Given the description of an element on the screen output the (x, y) to click on. 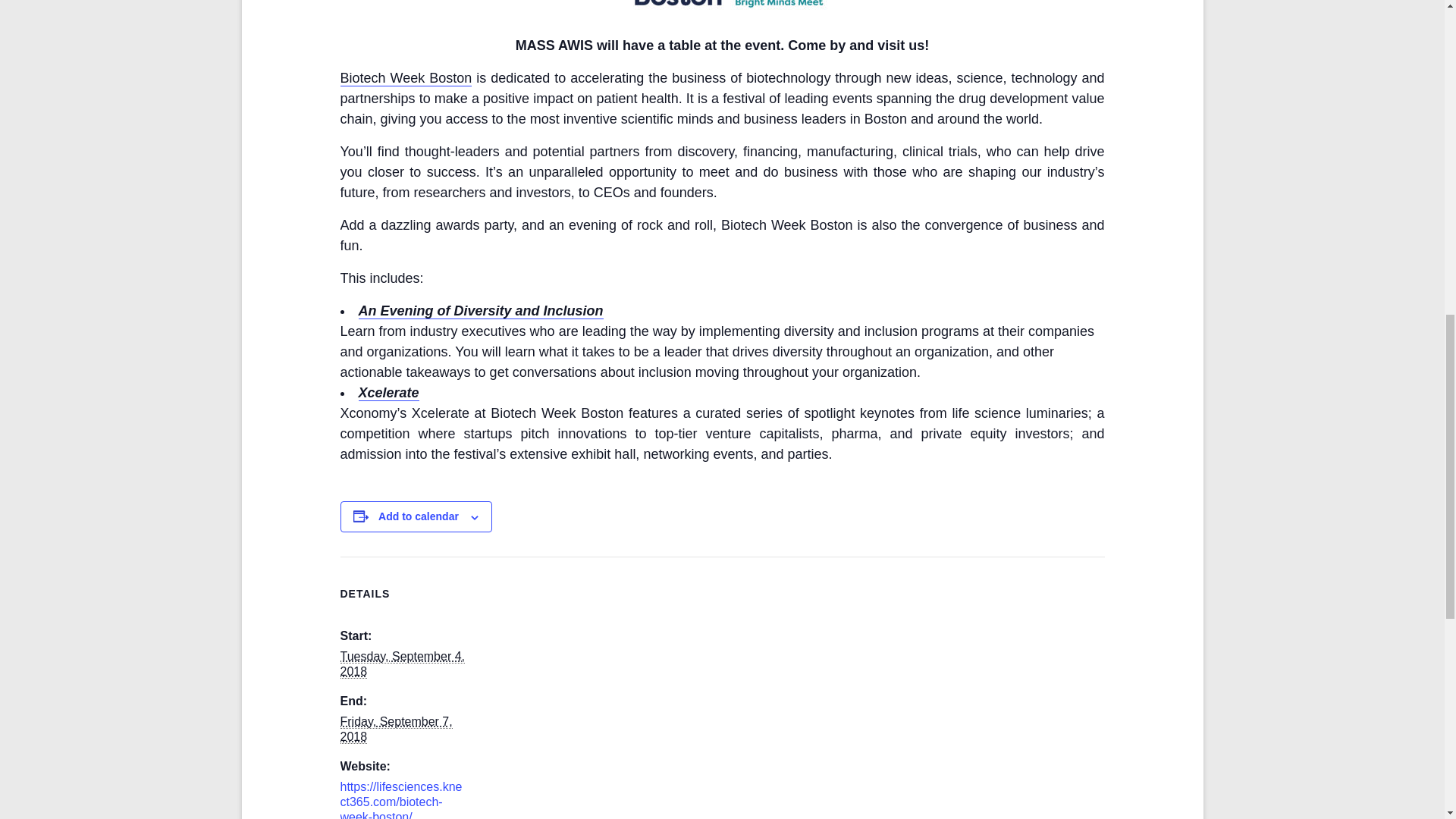
2018-09-04 (401, 664)
2018-09-08 (395, 728)
